Given the description of an element on the screen output the (x, y) to click on. 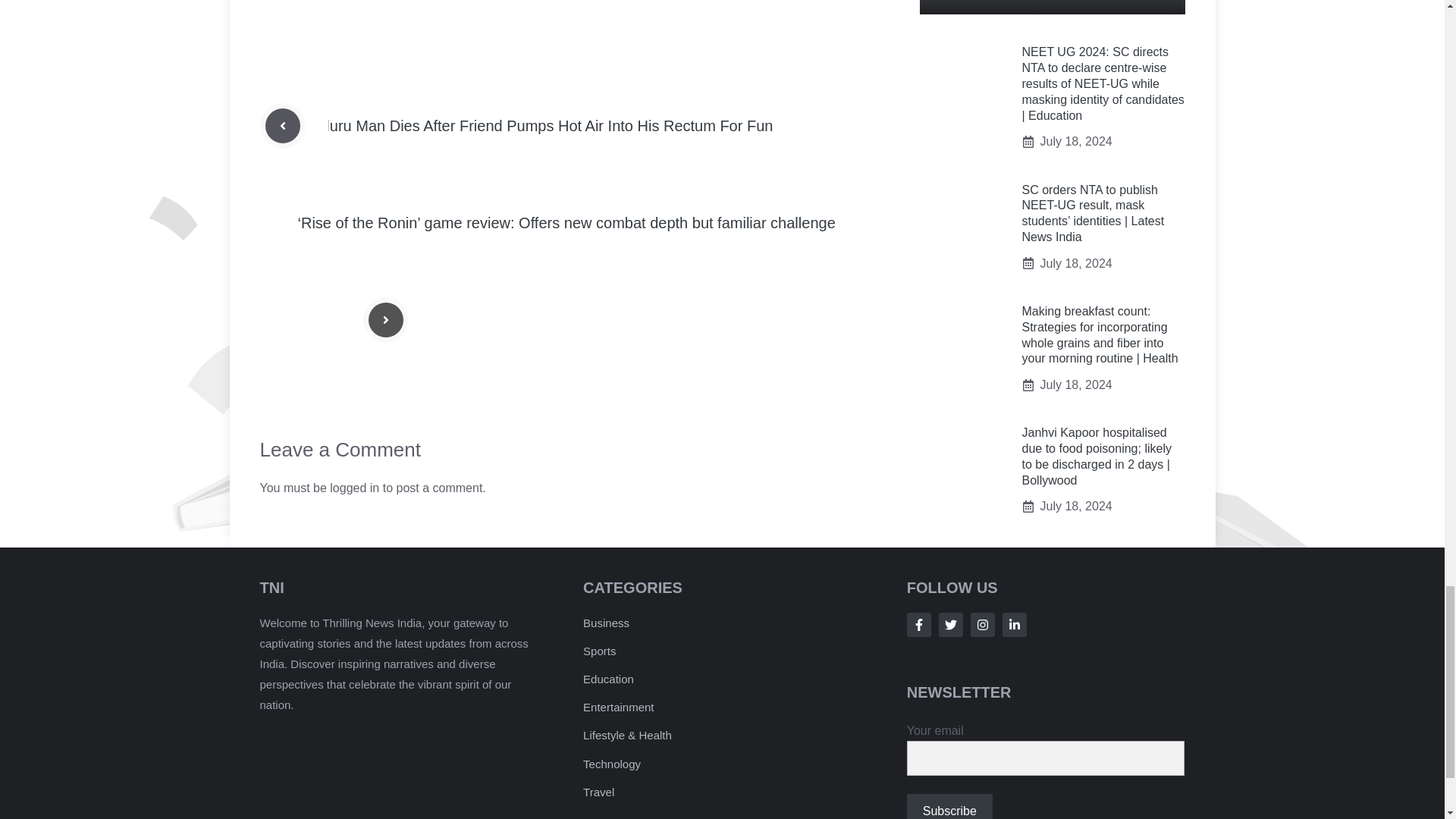
Business (605, 622)
Sports (599, 650)
logged in (354, 487)
Entertainment (618, 707)
Education (608, 678)
Subscribe (949, 806)
